Given the description of an element on the screen output the (x, y) to click on. 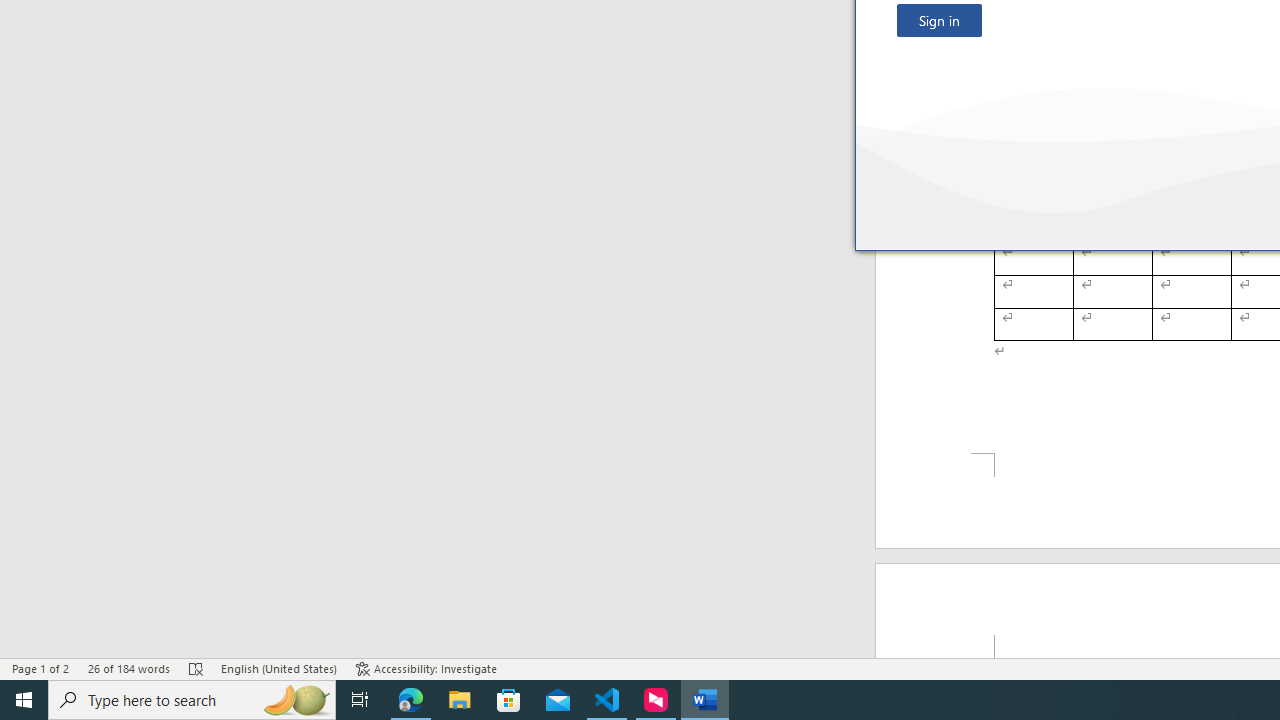
Word - 1 running window (704, 699)
Microsoft Edge - 1 running window (411, 699)
Sign in (939, 20)
Page Number Page 1 of 2 (39, 668)
File Explorer (460, 699)
